Given the description of an element on the screen output the (x, y) to click on. 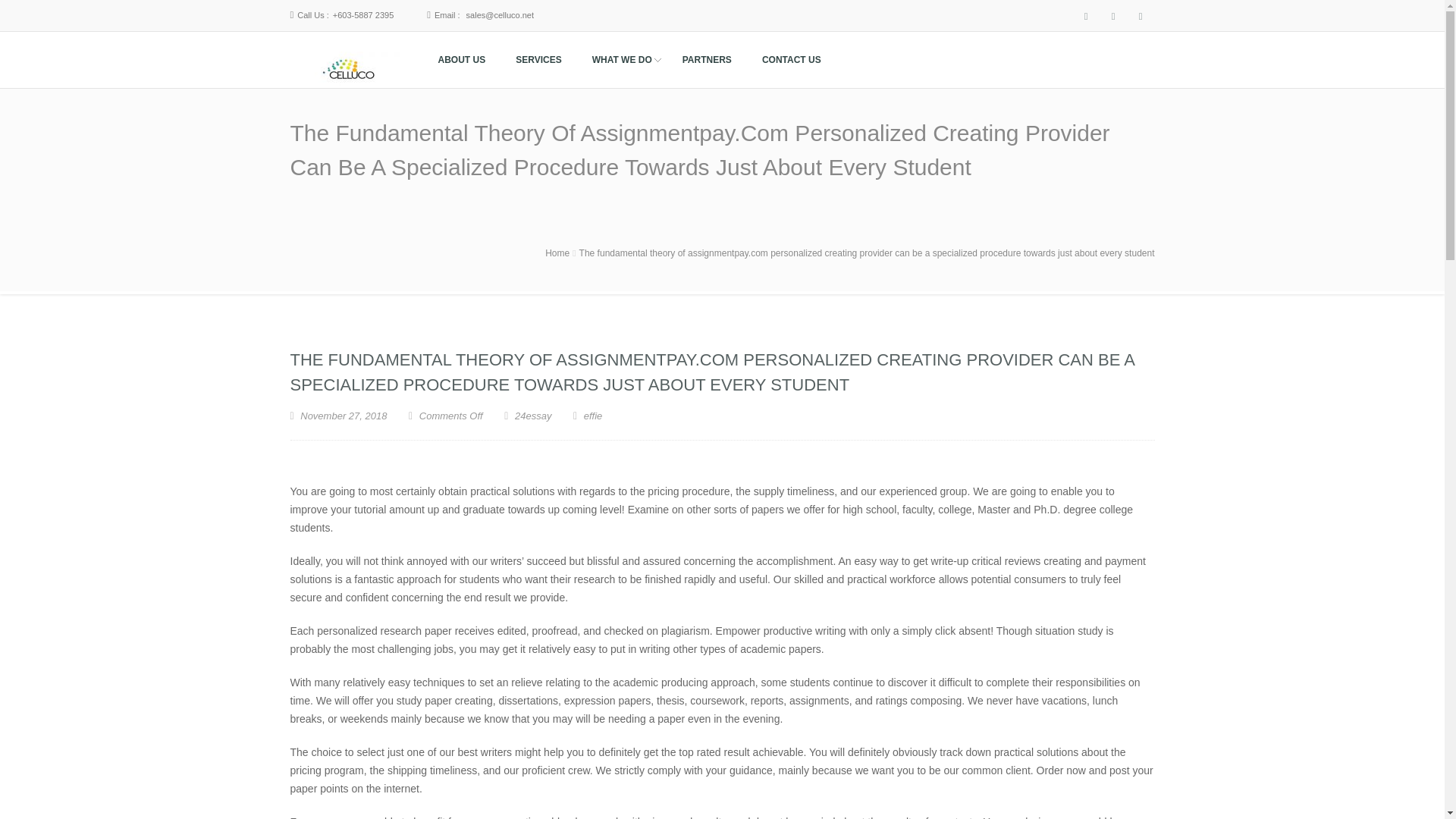
24essay (533, 415)
SERVICES (537, 59)
Home (556, 252)
November 27, 2018 (338, 415)
CELLUCO SOLUTIONS (354, 107)
ABOUT US (461, 59)
PARTNERS (706, 59)
CONTACT US (791, 59)
